Given the description of an element on the screen output the (x, y) to click on. 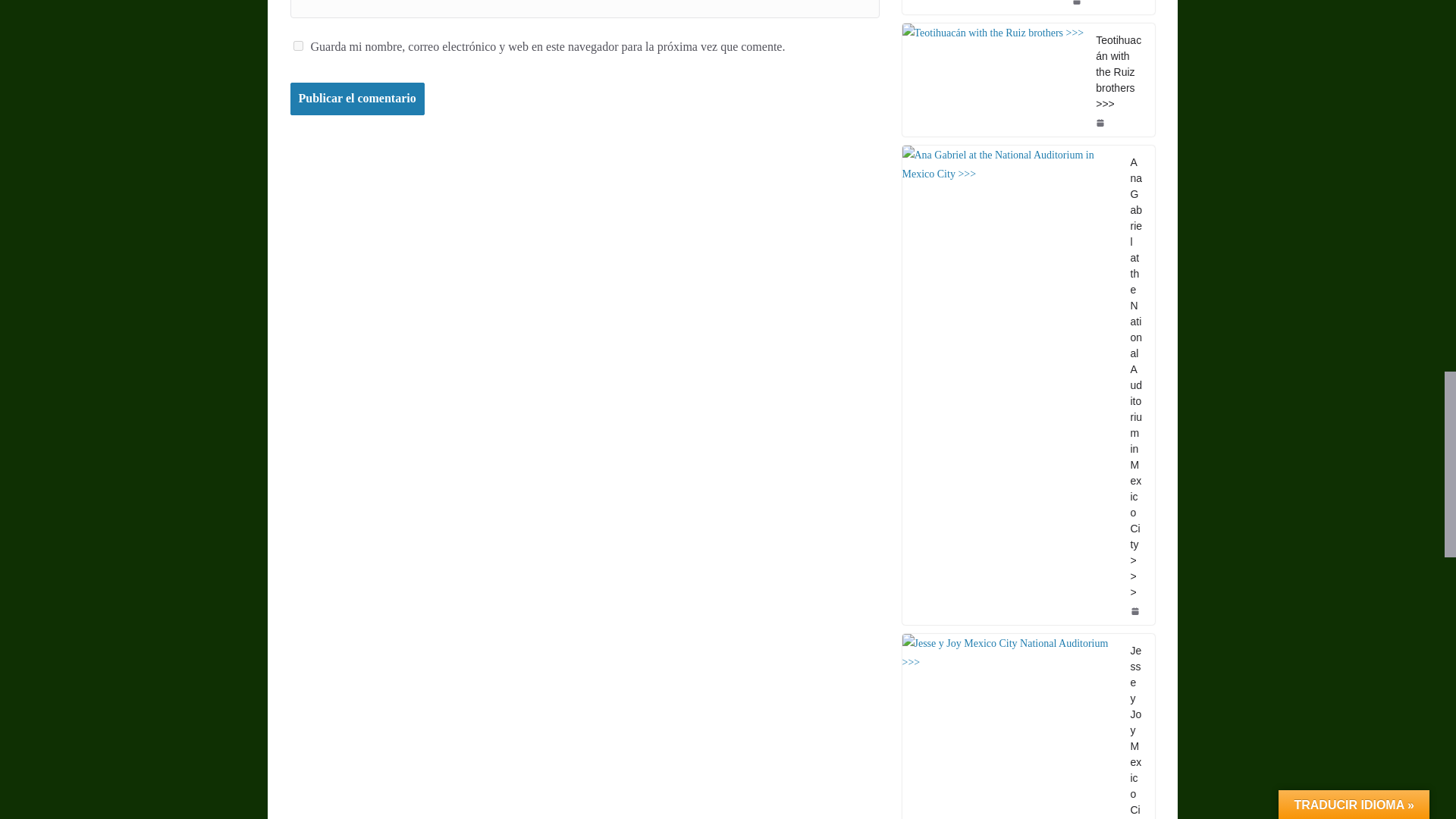
Publicar el comentario (356, 98)
yes (297, 45)
Publicar el comentario (356, 98)
